Given the description of an element on the screen output the (x, y) to click on. 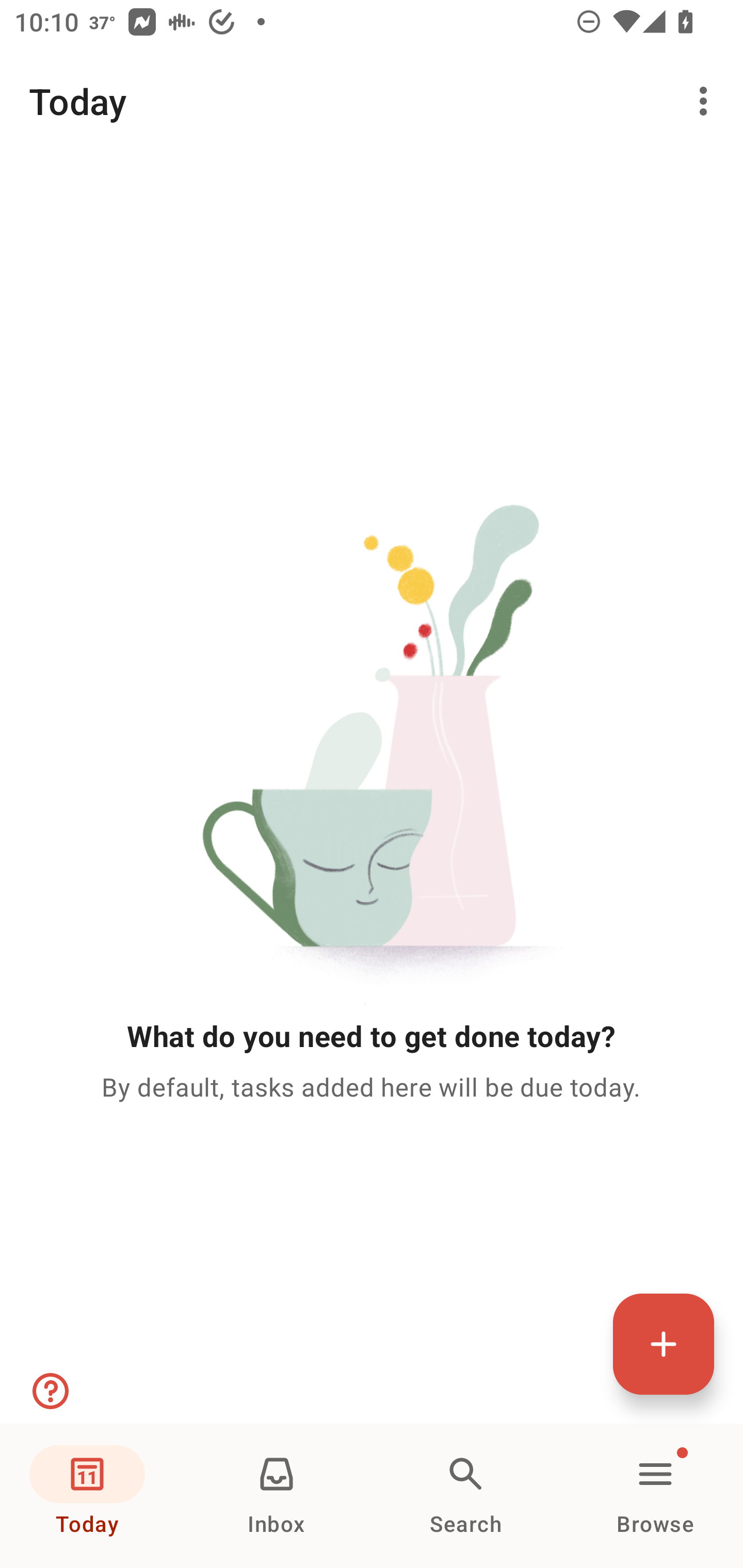
Today More options (371, 100)
More options (706, 101)
Quick add (663, 1343)
How to plan your day (48, 1390)
Inbox (276, 1495)
Search (465, 1495)
Browse (655, 1495)
